Given the description of an element on the screen output the (x, y) to click on. 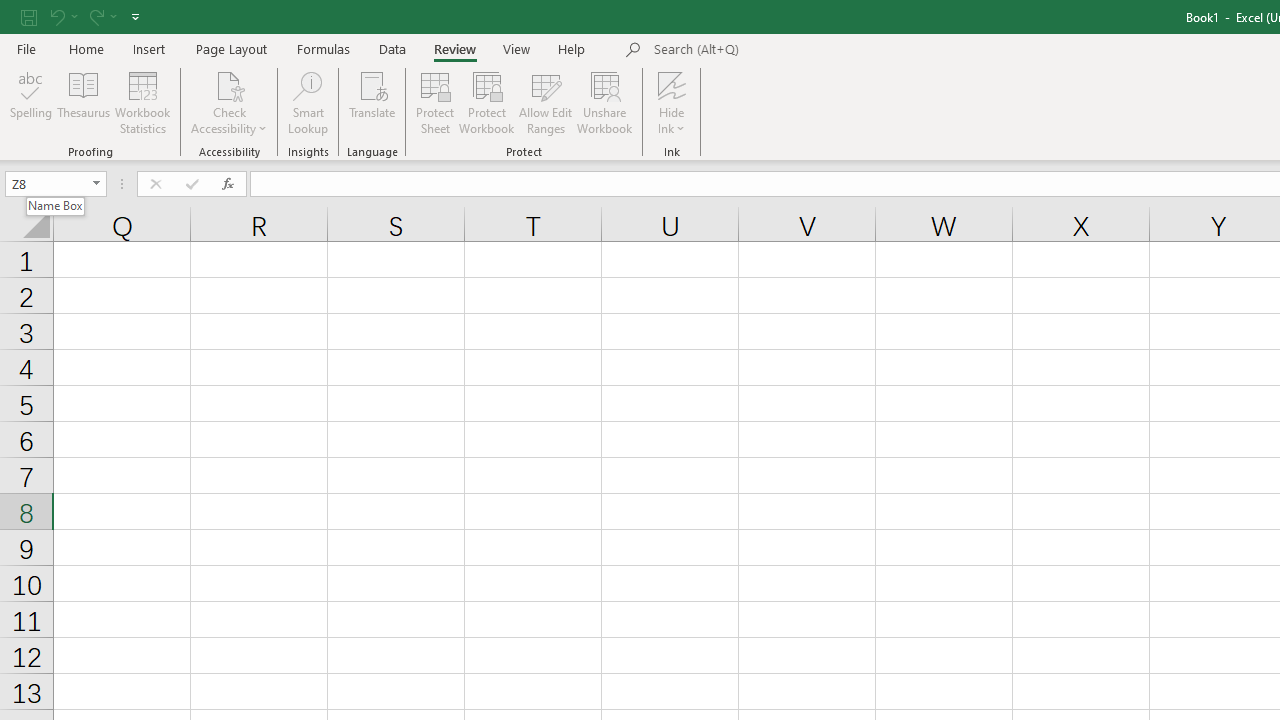
Hide Ink (671, 84)
Check Accessibility (229, 102)
